Given the description of an element on the screen output the (x, y) to click on. 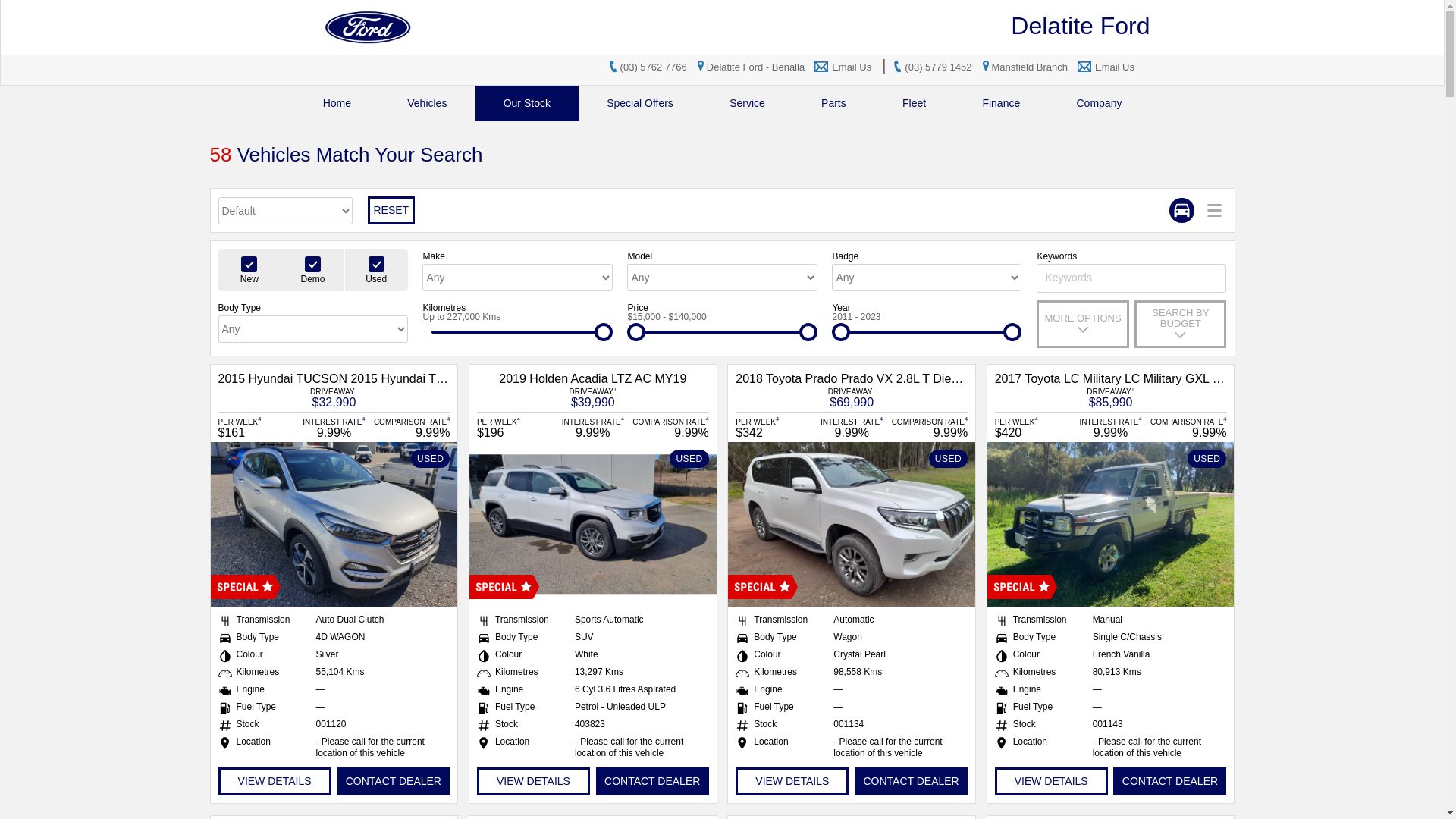
COMPARISON RATE4
9.99% Element type: text (1187, 427)
(03) 5779 1452 Element type: text (937, 66)
PER WEEK4
$342 Element type: text (773, 427)
CONTACT DEALER Element type: text (392, 781)
PER WEEK4
$196 Element type: text (515, 427)
Email Us Element type: text (851, 66)
DRIVEAWAY1
$32,990 Element type: text (334, 396)
Fleet Element type: text (913, 103)
Vehicles Element type: text (426, 103)
INTEREST RATE4
9.99% Element type: text (333, 427)
INTEREST RATE4
9.99% Element type: text (592, 427)
(03) 5762 7766 Element type: text (653, 66)
DRIVEAWAY1
$39,990 Element type: text (592, 396)
INTEREST RATE4
9.99% Element type: text (851, 427)
Our Stock Element type: text (527, 103)
DRIVEAWAY1
$85,990 Element type: text (1110, 396)
DRIVEAWAY1
$69,990 Element type: text (851, 396)
Home Element type: text (336, 103)
Mansfield Branch Element type: text (1025, 66)
Finance Element type: text (1000, 103)
Special Offers Element type: text (639, 103)
Email Us Element type: text (1114, 66)
PER WEEK4
$420 Element type: text (1033, 427)
Delatite Ford - Benalla Element type: text (751, 66)
VIEW DETAILS Element type: text (1050, 781)
USED Element type: text (1110, 524)
INTEREST RATE4
9.99% Element type: text (1110, 427)
CONTACT DEALER Element type: text (652, 781)
Company Element type: text (1098, 103)
CONTACT DEALER Element type: text (910, 781)
PER WEEK4
$161 Element type: text (256, 427)
USED Element type: text (851, 524)
CONTACT DEALER Element type: text (1169, 781)
Parts Element type: text (833, 103)
VIEW DETAILS Element type: text (532, 781)
USED Element type: text (334, 524)
COMPARISON RATE4
9.99% Element type: text (410, 427)
VIEW DETAILS Element type: text (274, 781)
Service Element type: text (747, 103)
RESET Element type: text (390, 210)
MORE OPTIONS Element type: text (1082, 324)
VIEW DETAILS Element type: text (791, 781)
USED Element type: text (592, 524)
SEARCH BY BUDGET Element type: text (1180, 324)
COMPARISON RATE4
9.99% Element type: text (670, 427)
COMPARISON RATE4
9.99% Element type: text (928, 427)
